Given the description of an element on the screen output the (x, y) to click on. 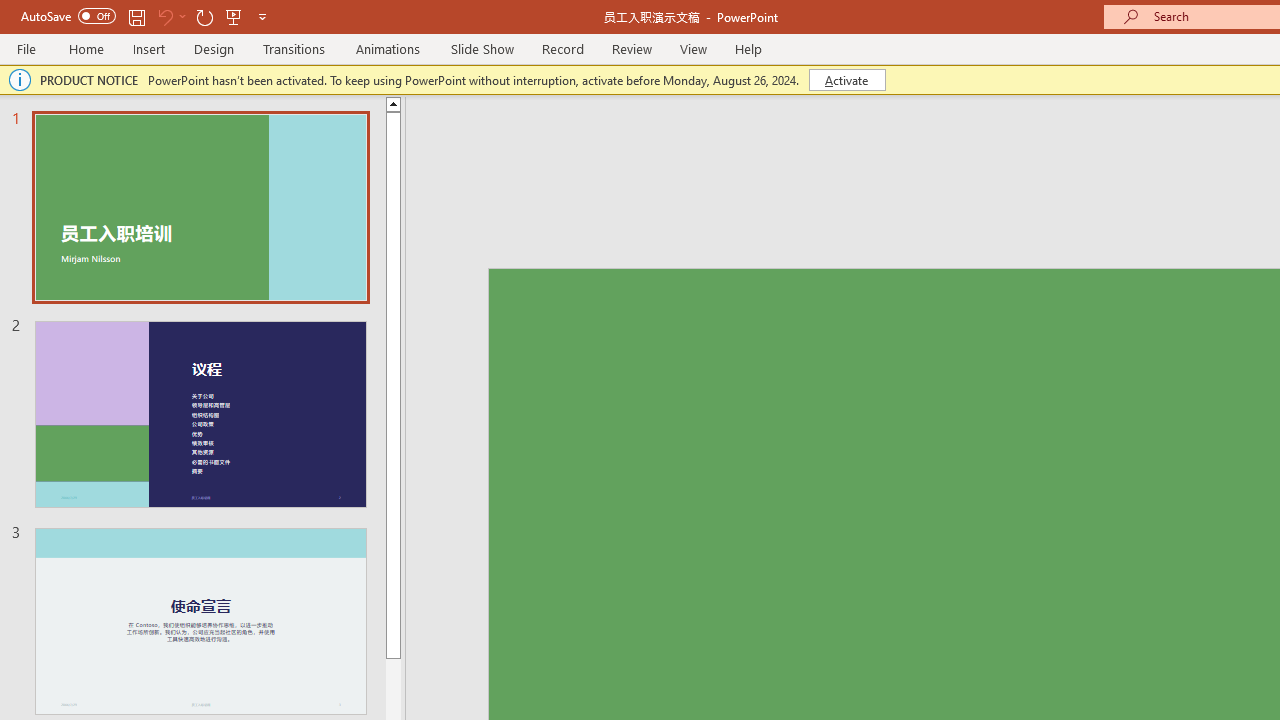
Activate (846, 79)
